Given the description of an element on the screen output the (x, y) to click on. 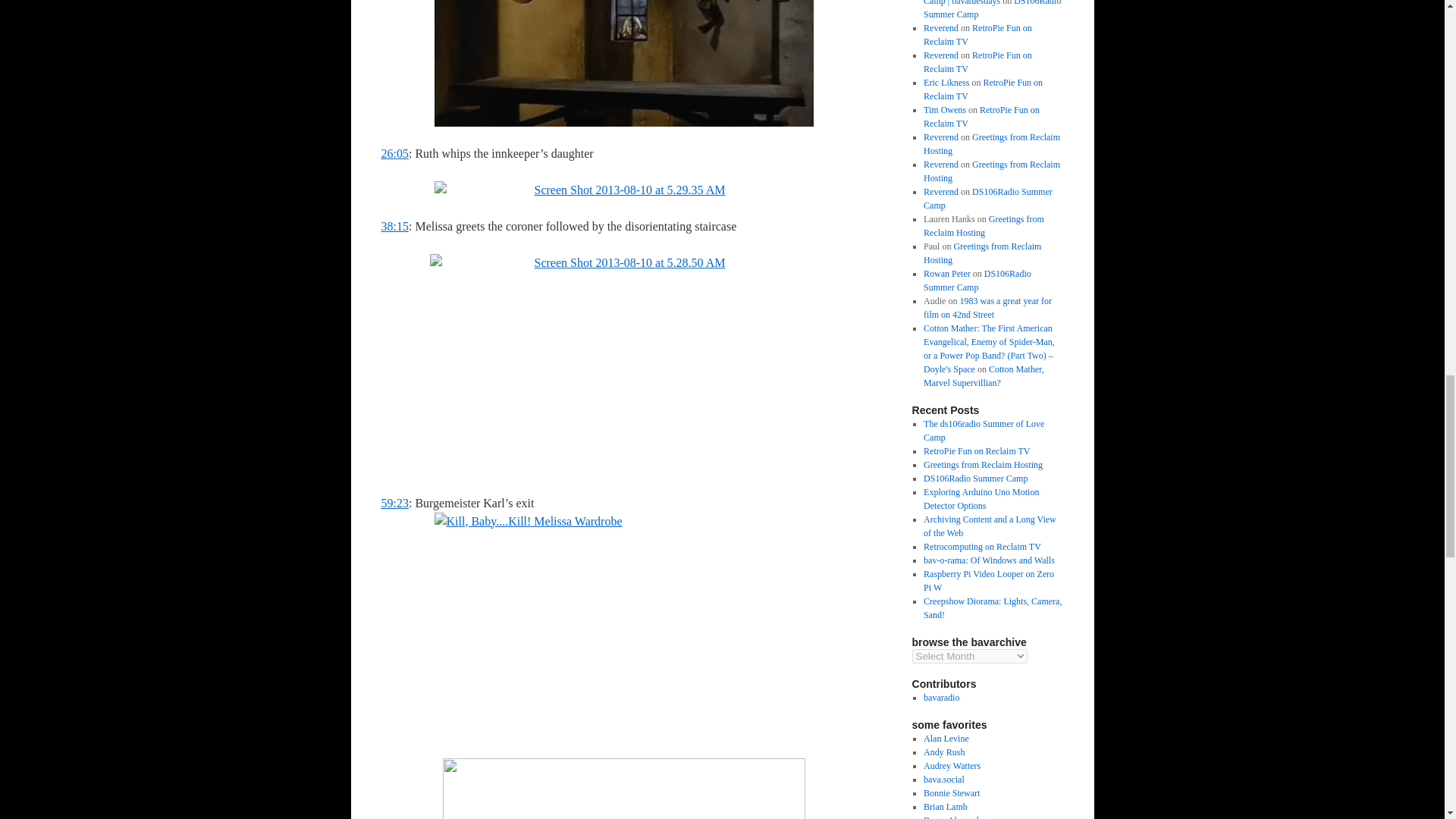
bava on the radio (941, 697)
38:15 (393, 226)
26:05 (393, 153)
